Given the description of an element on the screen output the (x, y) to click on. 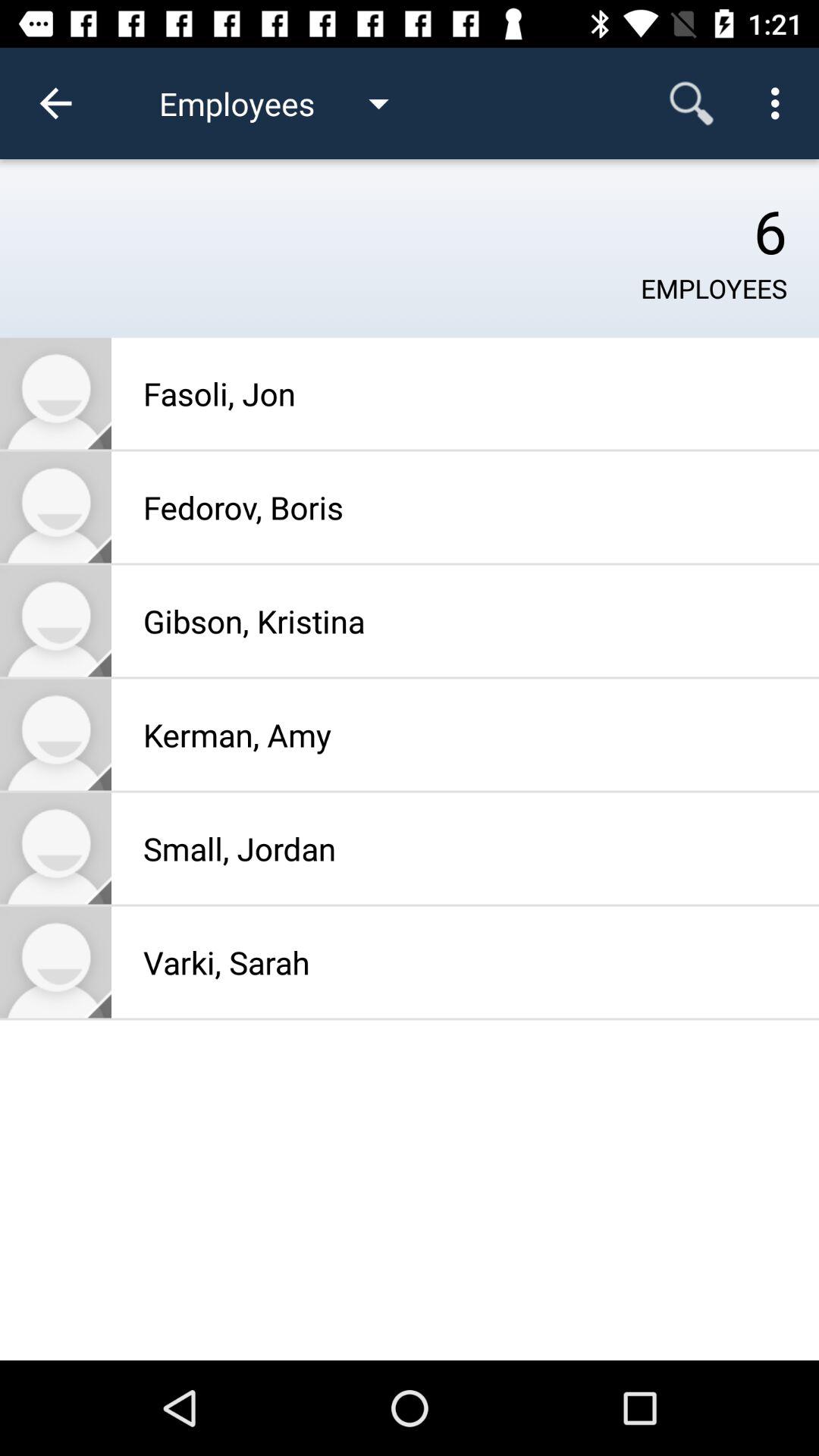
friend photo (55, 620)
